Given the description of an element on the screen output the (x, y) to click on. 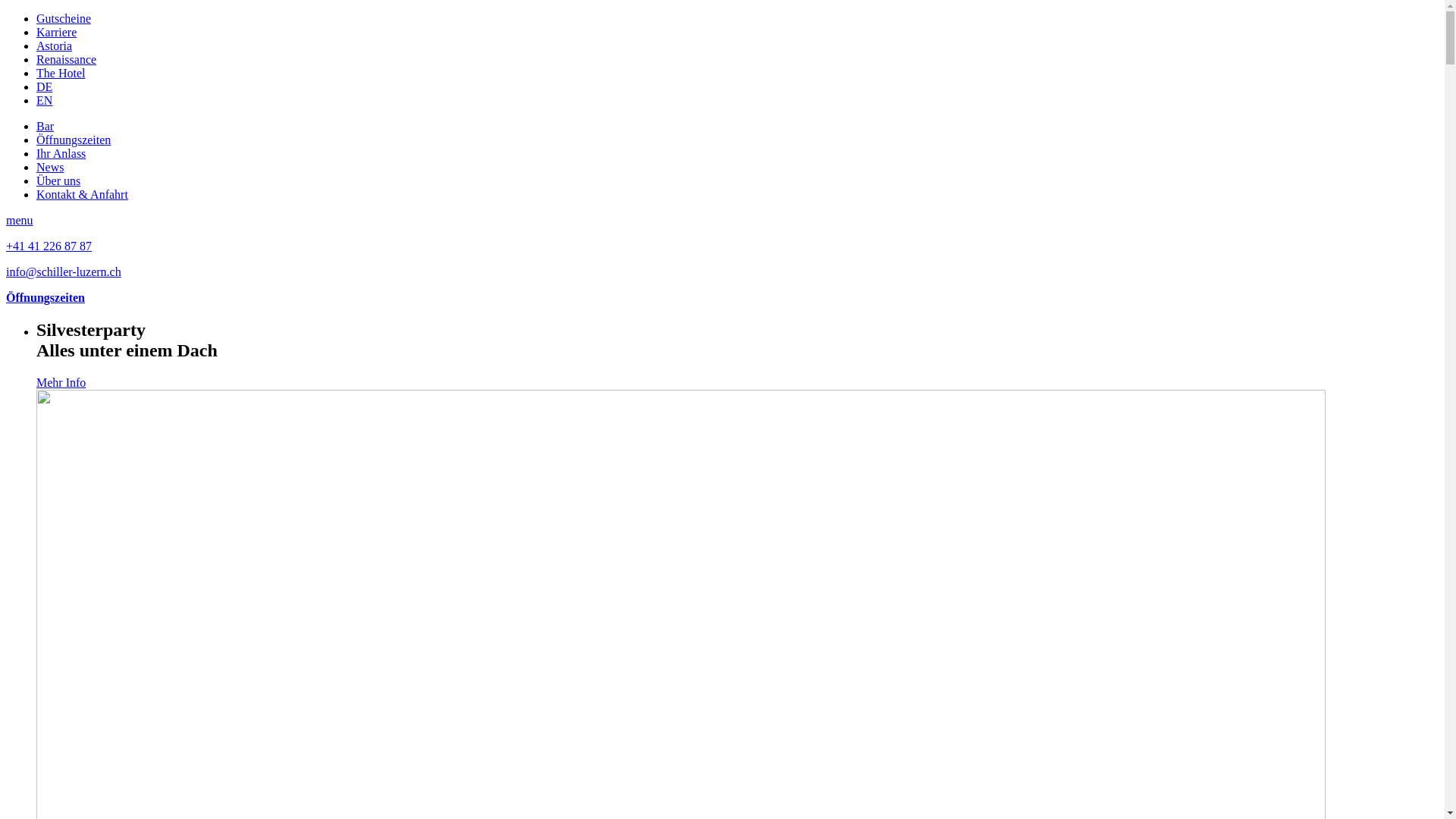
EN Element type: text (44, 100)
Bar Element type: text (44, 125)
Gutscheine Element type: text (63, 18)
Kontakt & Anfahrt Element type: text (82, 194)
info@schiller-luzern.ch Element type: text (63, 271)
News Element type: text (49, 166)
Ihr Anlass Element type: text (60, 153)
Karriere Element type: text (56, 31)
Renaissance Element type: text (66, 59)
DE Element type: text (44, 86)
The Hotel Element type: text (60, 72)
Astoria Element type: text (54, 45)
+41 41 226 87 87 Element type: text (48, 245)
Mehr Info Element type: text (60, 382)
menu Element type: text (19, 219)
